Given the description of an element on the screen output the (x, y) to click on. 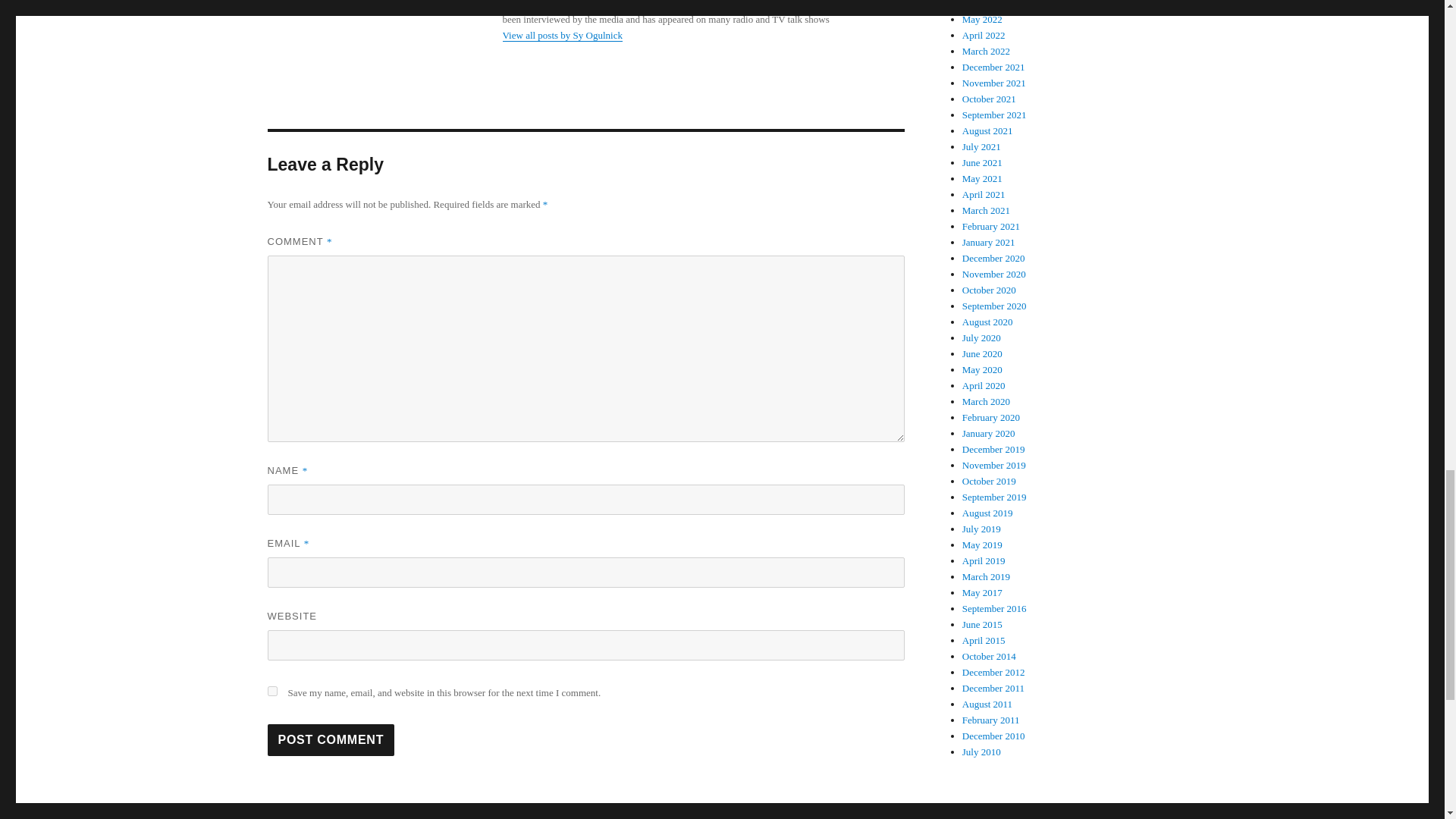
Post Comment (330, 739)
Post Comment (330, 739)
yes (271, 691)
View all posts by Sy Ogulnick (561, 34)
